Given the description of an element on the screen output the (x, y) to click on. 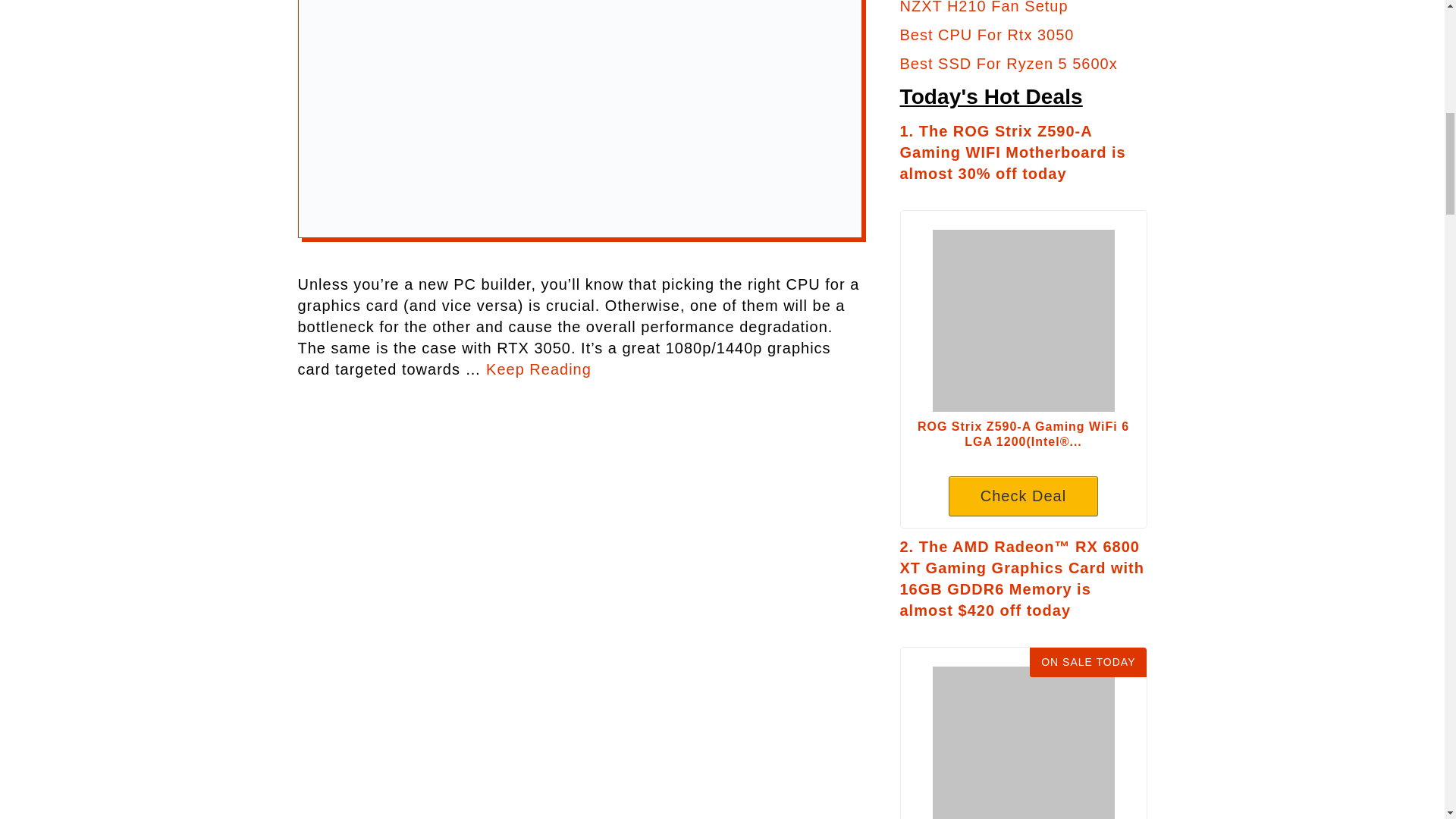
Check Deal (1024, 495)
Best CPU For RTX 3050 (538, 369)
